Given the description of an element on the screen output the (x, y) to click on. 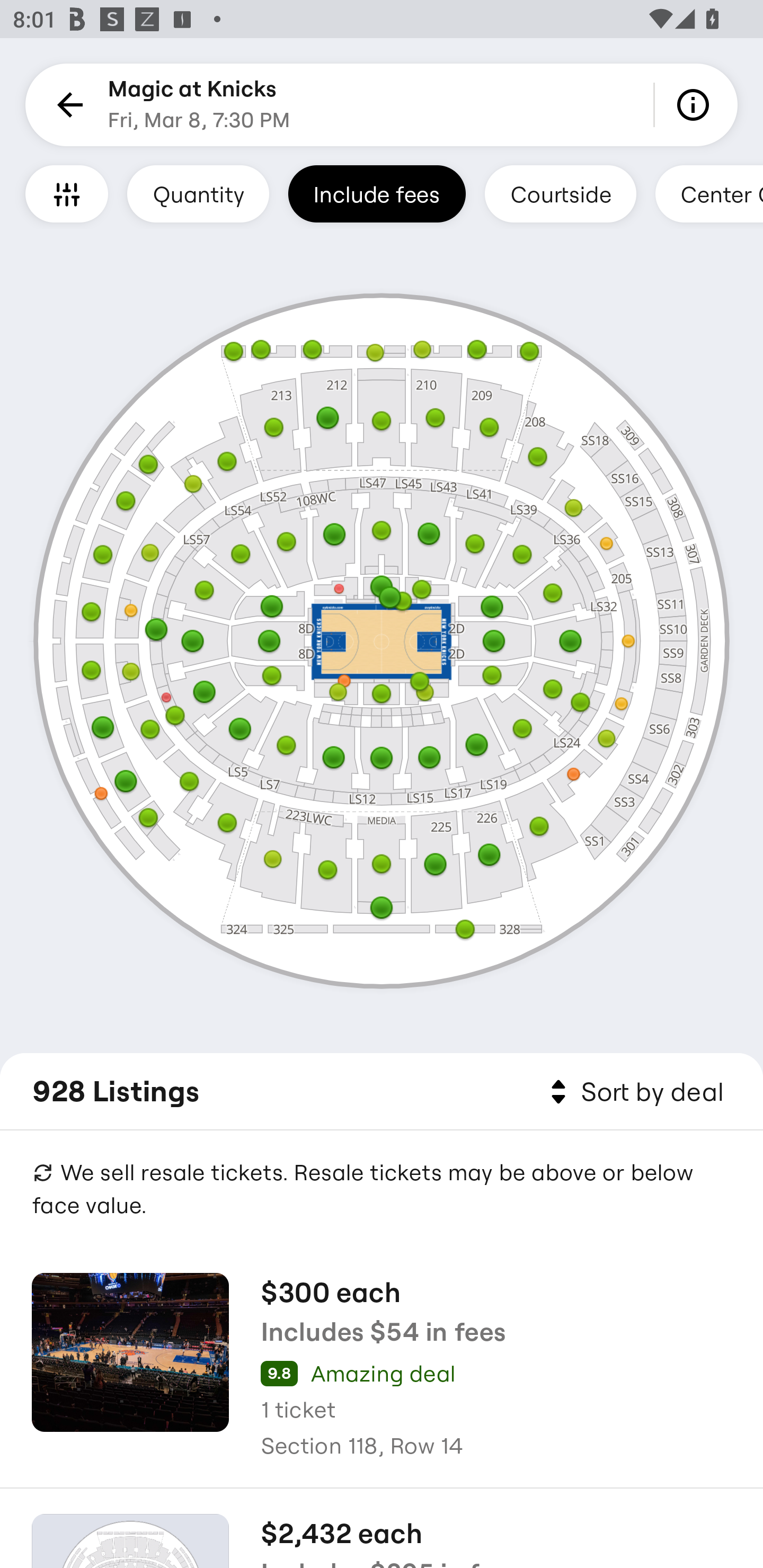
Back (66, 104)
Magic at Knicks Fri, Mar 8, 7:30 PM (198, 104)
Info (695, 104)
Filters and Accessible Seating (66, 193)
Quantity (198, 193)
Include fees (376, 193)
Courtside (560, 193)
Sort by deal (633, 1091)
